Given the description of an element on the screen output the (x, y) to click on. 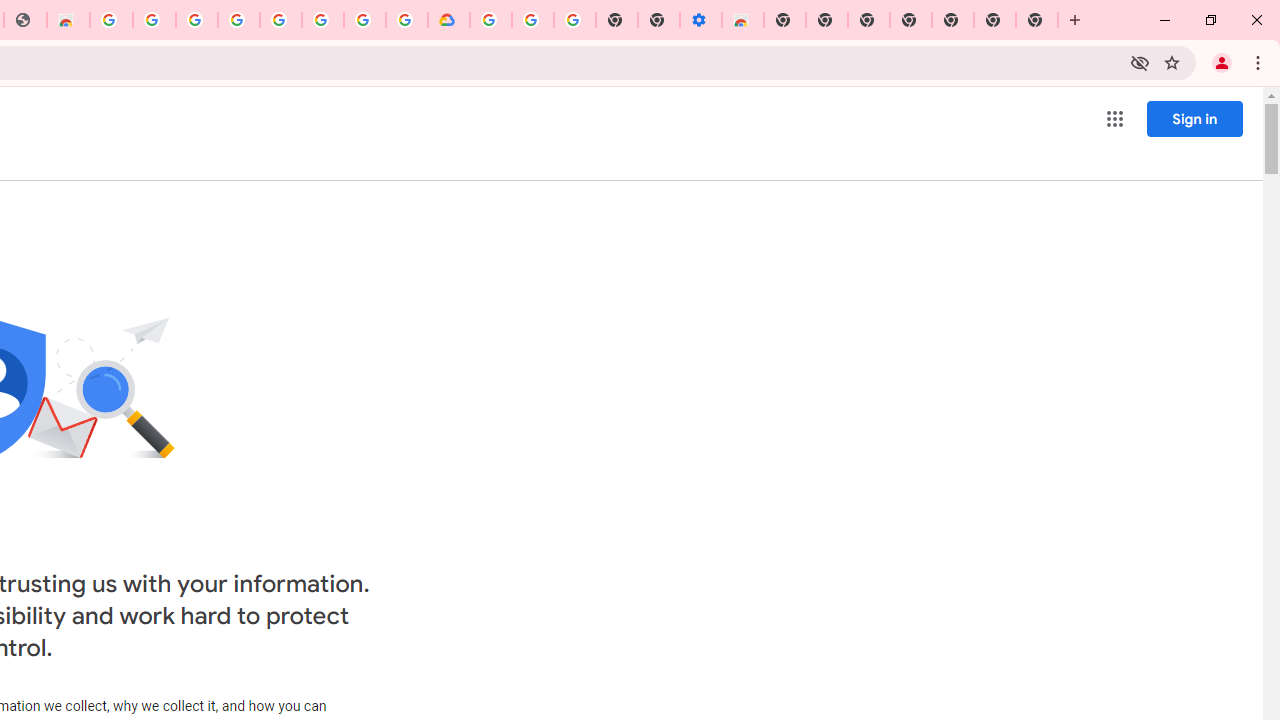
Settings - Accessibility (700, 20)
Chrome Web Store - Accessibility extensions (742, 20)
Turn cookies on or off - Computer - Google Account Help (575, 20)
New Tab (1037, 20)
Google Account Help (533, 20)
New Tab (785, 20)
Google Account Help (238, 20)
